Given the description of an element on the screen output the (x, y) to click on. 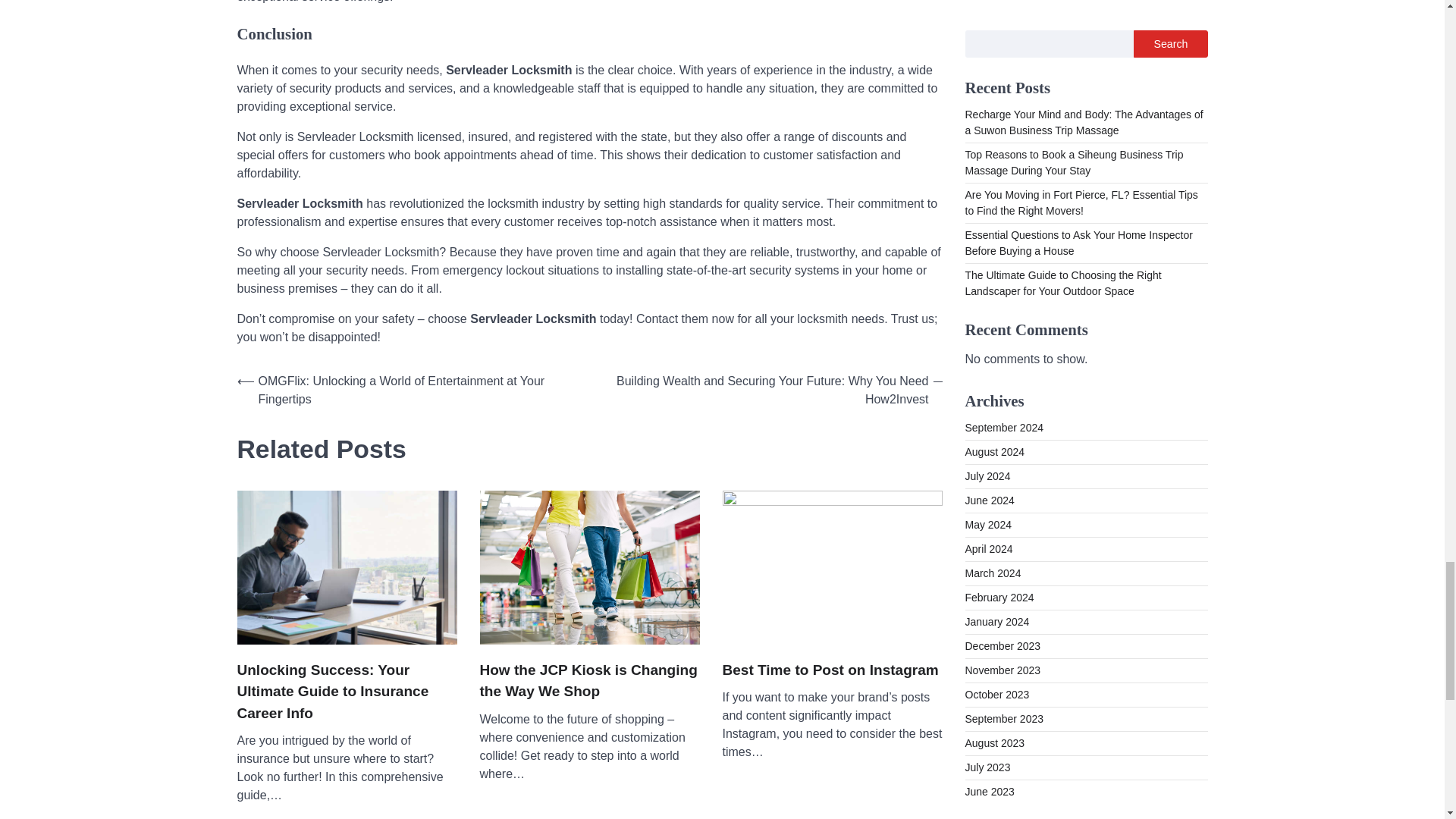
How the JCP Kiosk is Changing the Way We Shop (588, 681)
Best Time to Post on Instagram (829, 670)
